Given the description of an element on the screen output the (x, y) to click on. 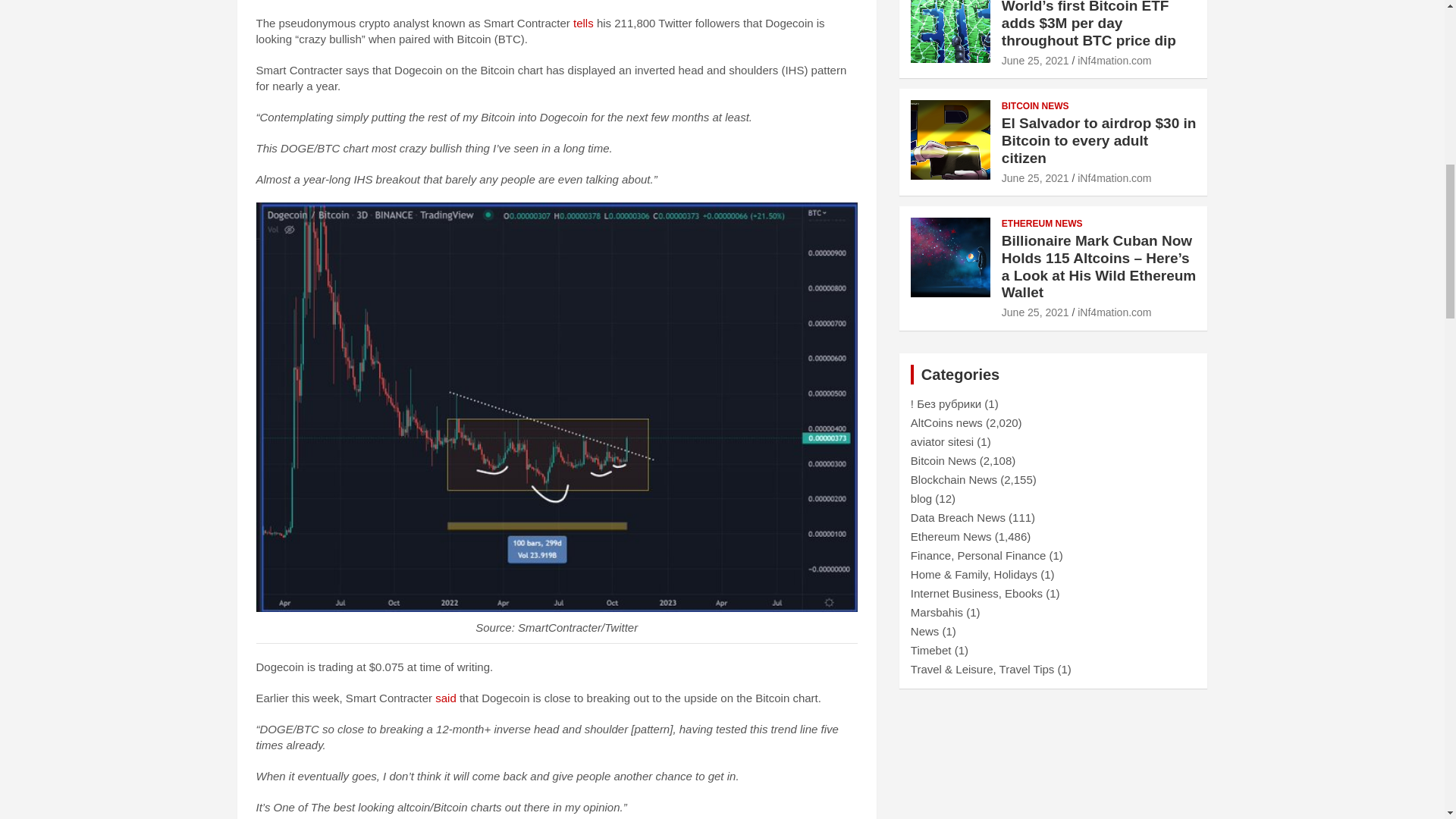
tells (583, 22)
said (446, 697)
